Given the description of an element on the screen output the (x, y) to click on. 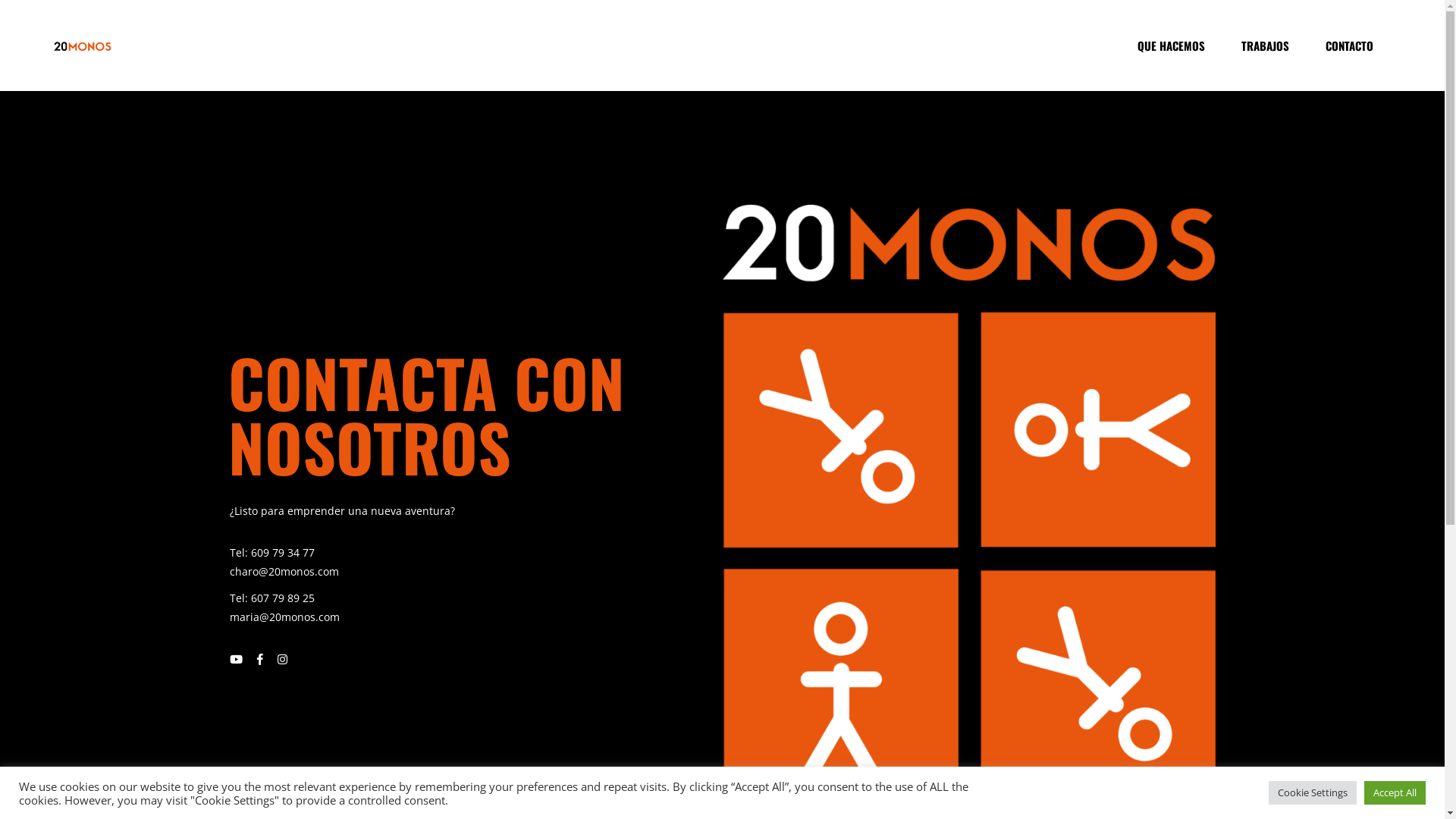
datos Element type: text (785, 744)
maria@20monos.com Element type: text (283, 616)
CONTACTO Element type: text (1349, 44)
Cookie Settings Element type: text (1312, 792)
  Element type: text (248, 552)
TRABAJOS Element type: text (1265, 44)
charo@20monos.com Element type: text (283, 571)
Accept All Element type: text (1394, 792)
de Element type: text (763, 744)
QUE HACEMOS Element type: text (1171, 44)
  Element type: text (248, 597)
